Given the description of an element on the screen output the (x, y) to click on. 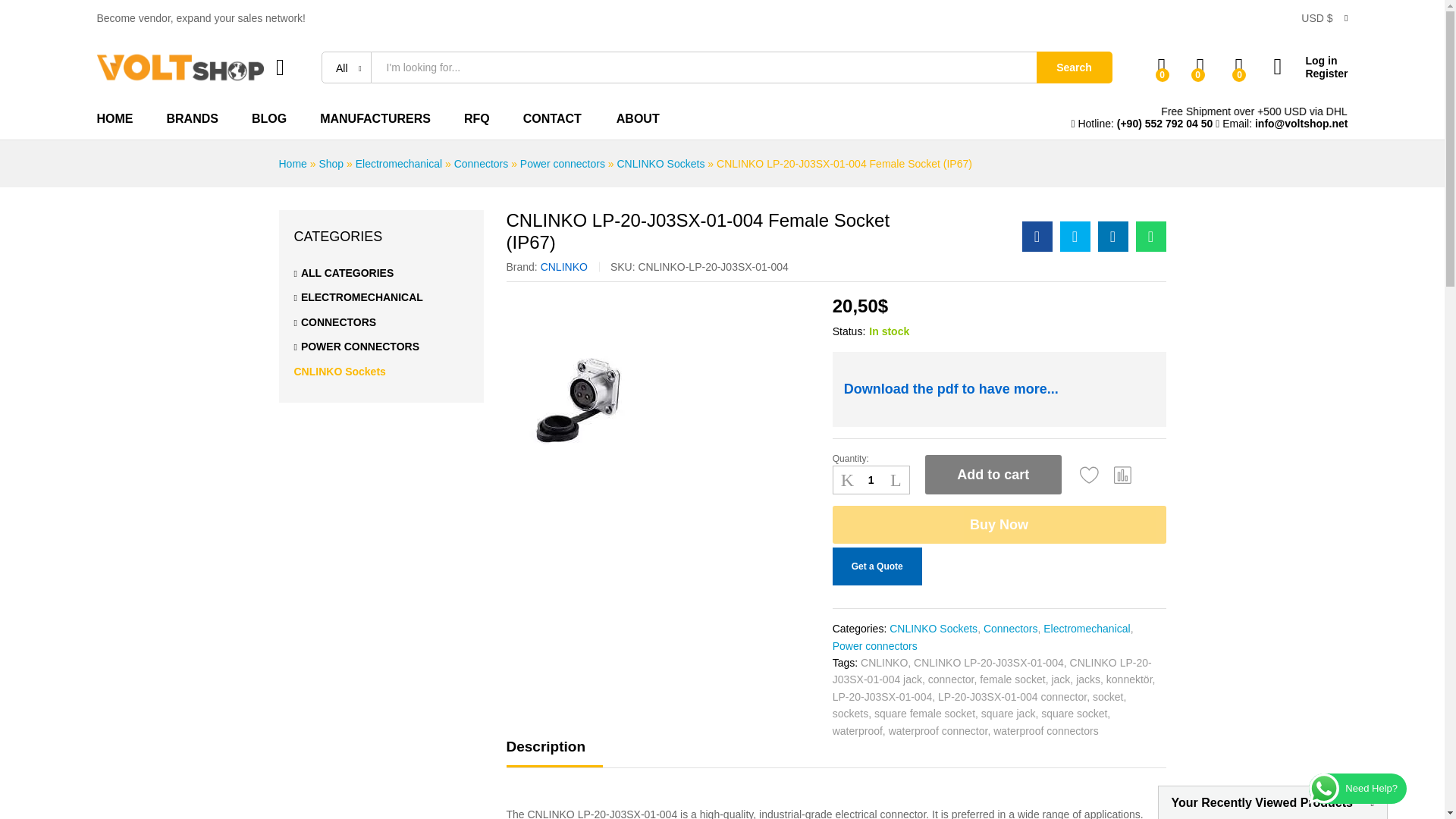
Become vendor, expand your sales network! (201, 18)
Wishlist (1089, 474)
1 (870, 479)
Qty (870, 479)
lp205562 (600, 388)
